Given the description of an element on the screen output the (x, y) to click on. 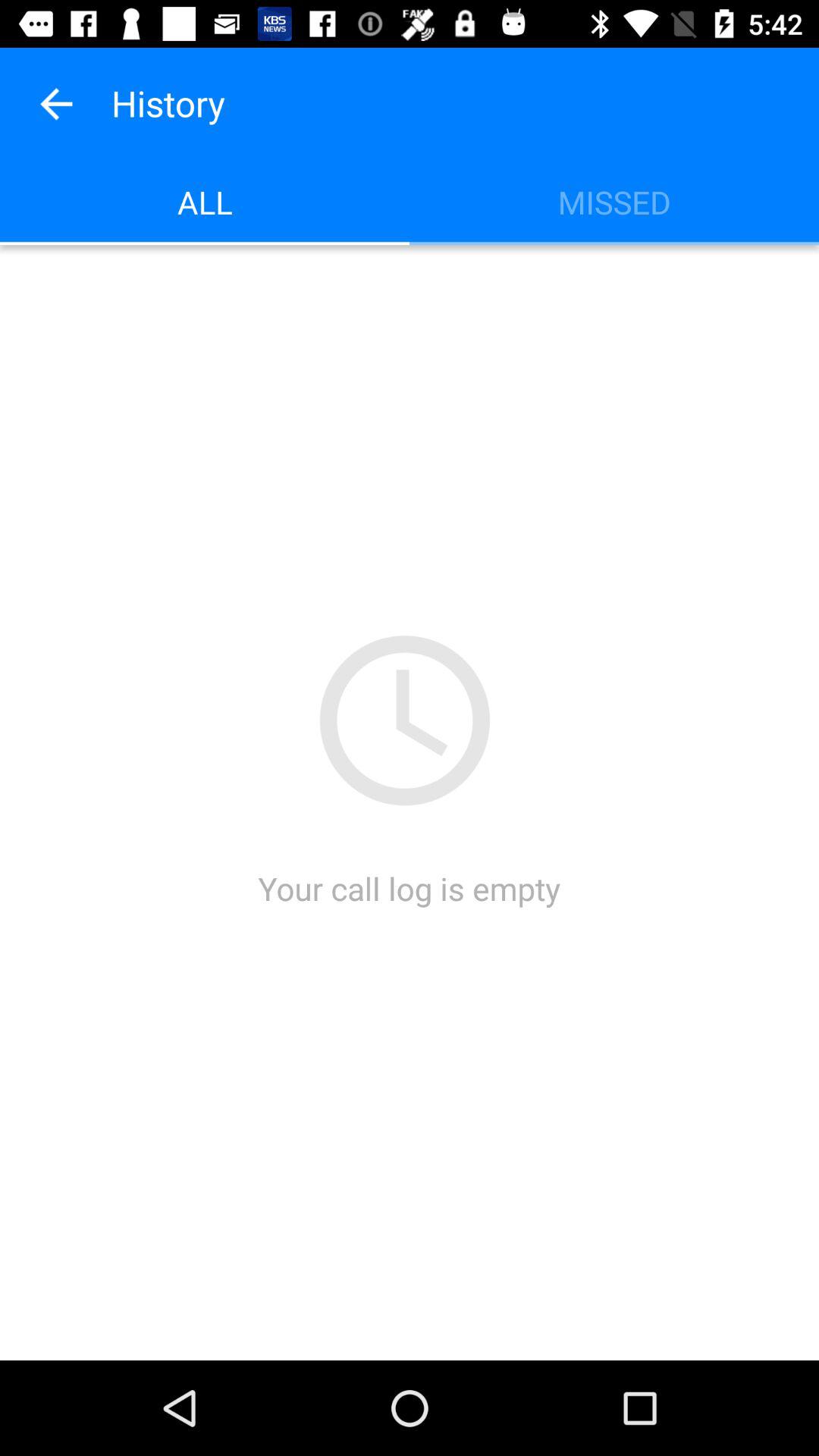
turn off the item next to all icon (614, 202)
